Given the description of an element on the screen output the (x, y) to click on. 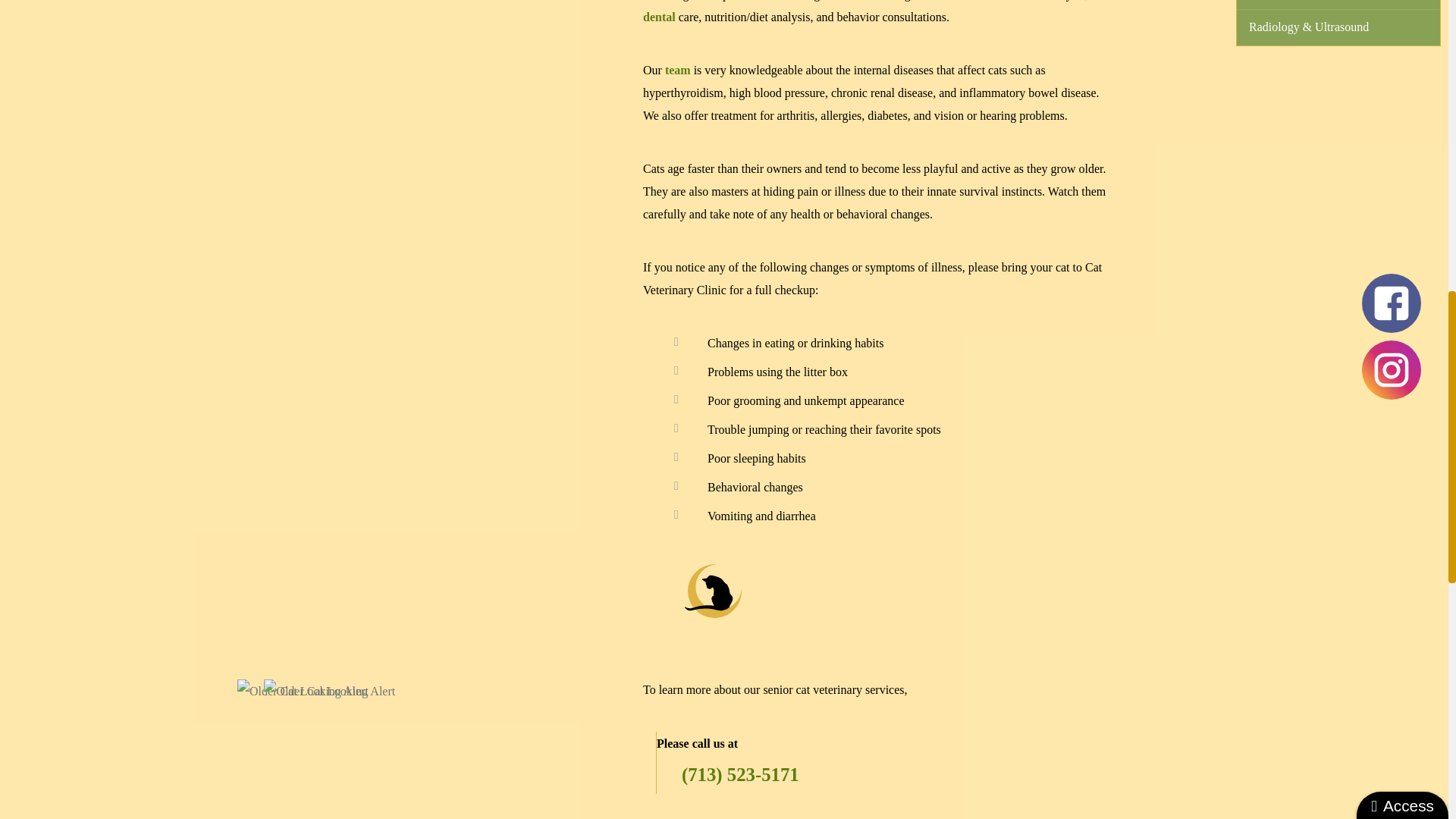
End of Life (1337, 4)
team (677, 69)
Older Cat Looking Alert (302, 691)
dental (659, 16)
Older Cat Looking Alert (328, 691)
